Given the description of an element on the screen output the (x, y) to click on. 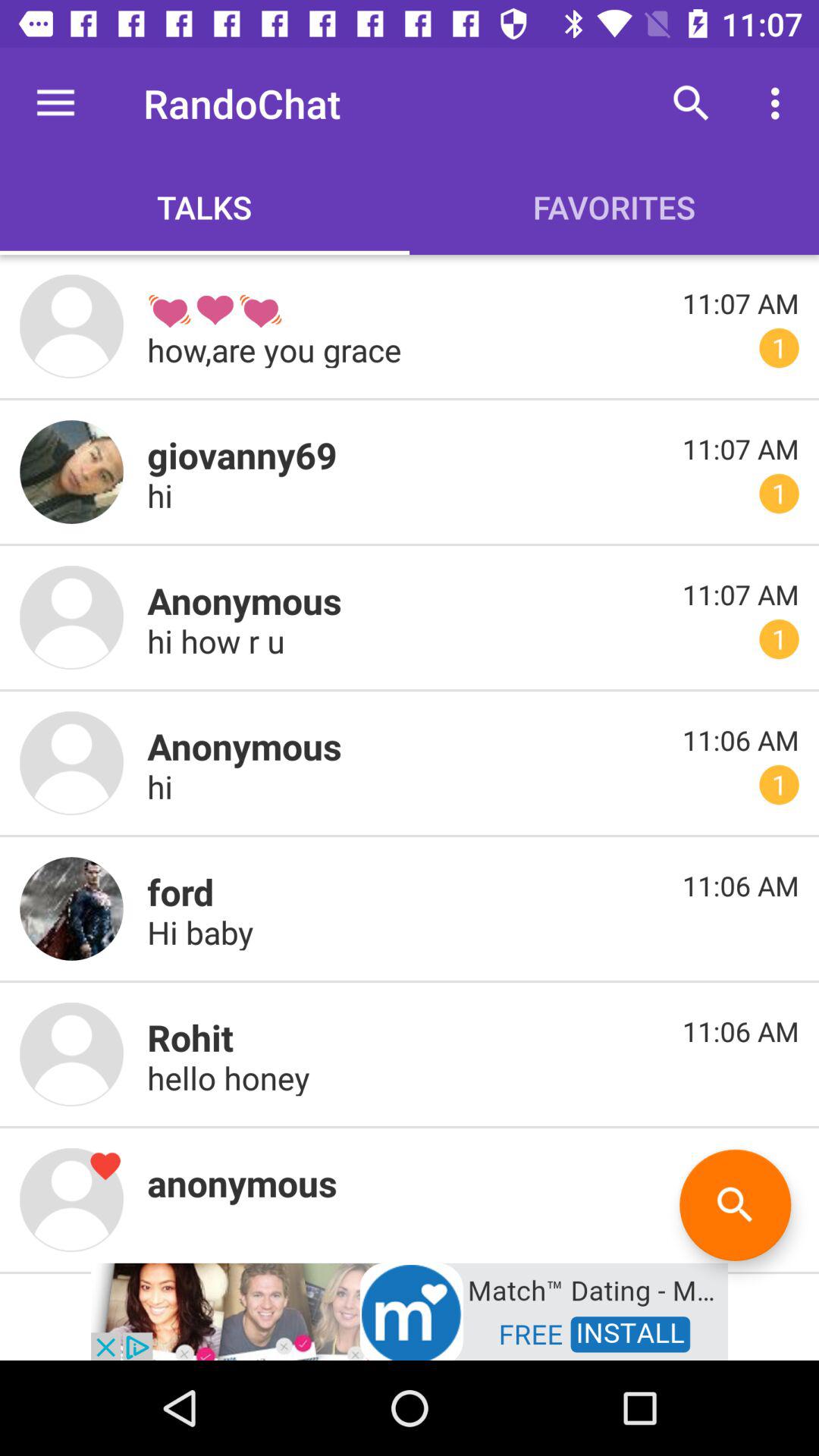
go to serch botton (735, 1204)
